Given the description of an element on the screen output the (x, y) to click on. 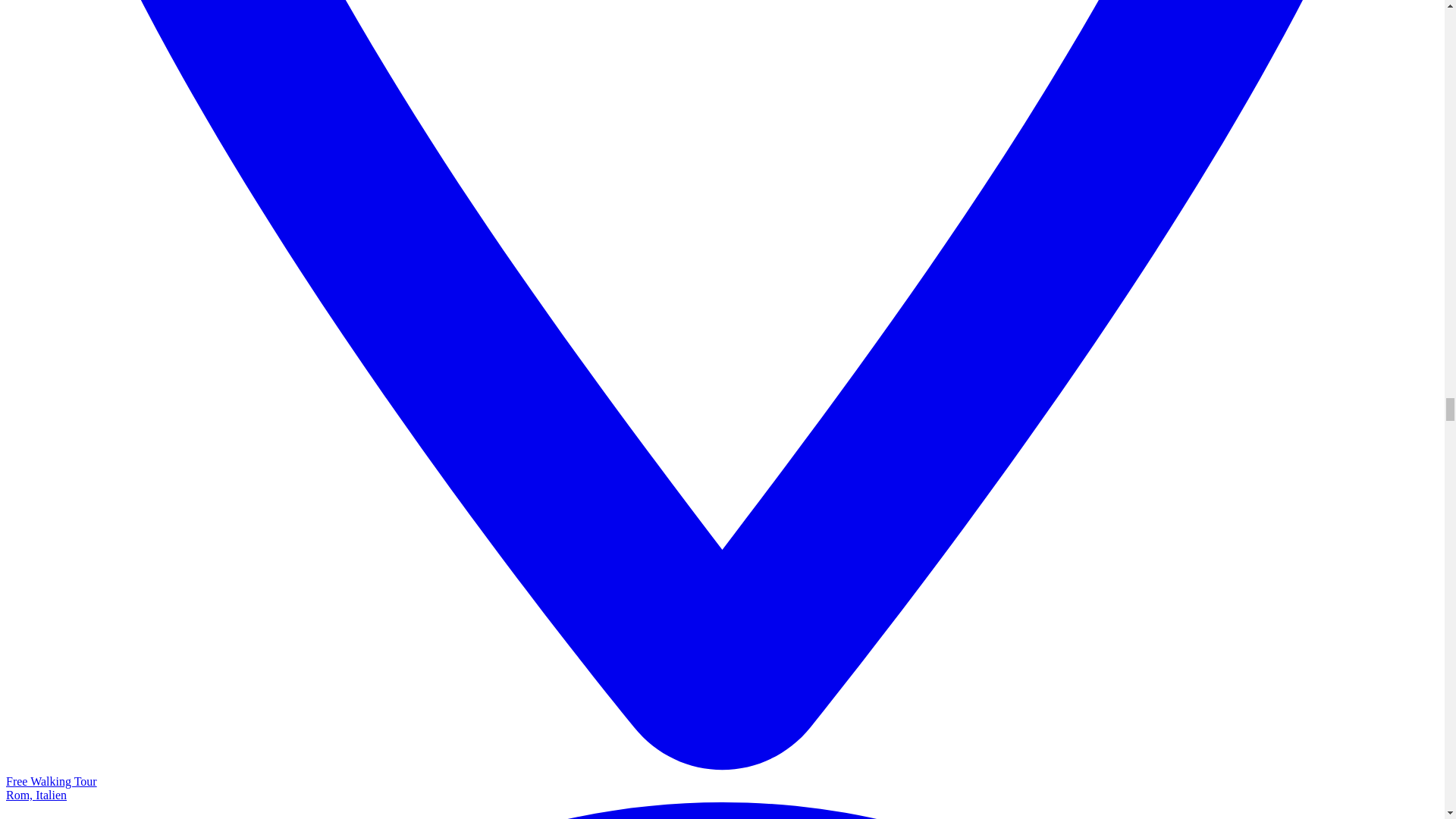
Marrakesch (721, 810)
